Given the description of an element on the screen output the (x, y) to click on. 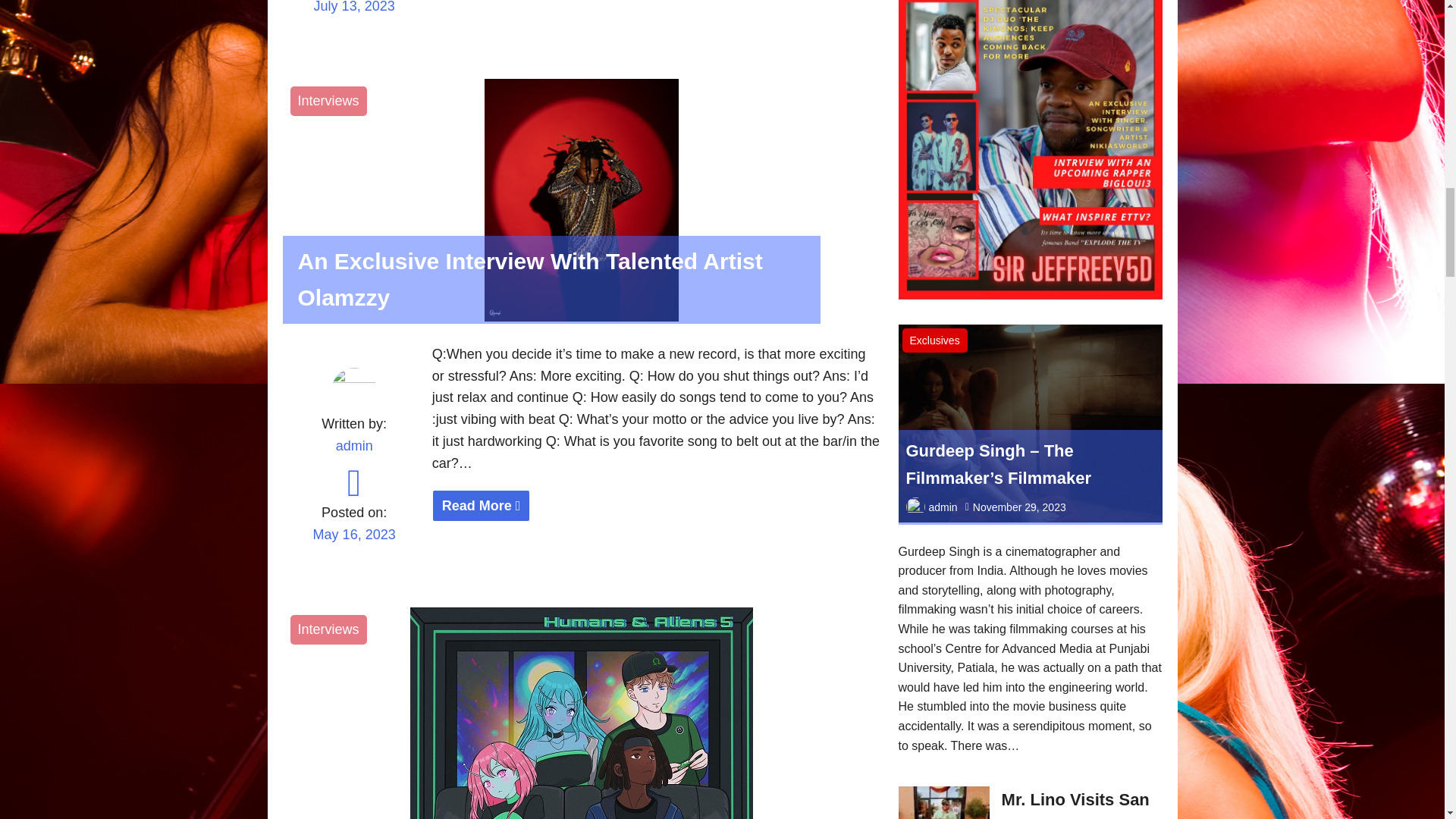
An Exclusive Interview With Talented Artist Olamzzy (581, 316)
An Exclusive Interview With Talented Artist Olamzzy (656, 505)
